Given the description of an element on the screen output the (x, y) to click on. 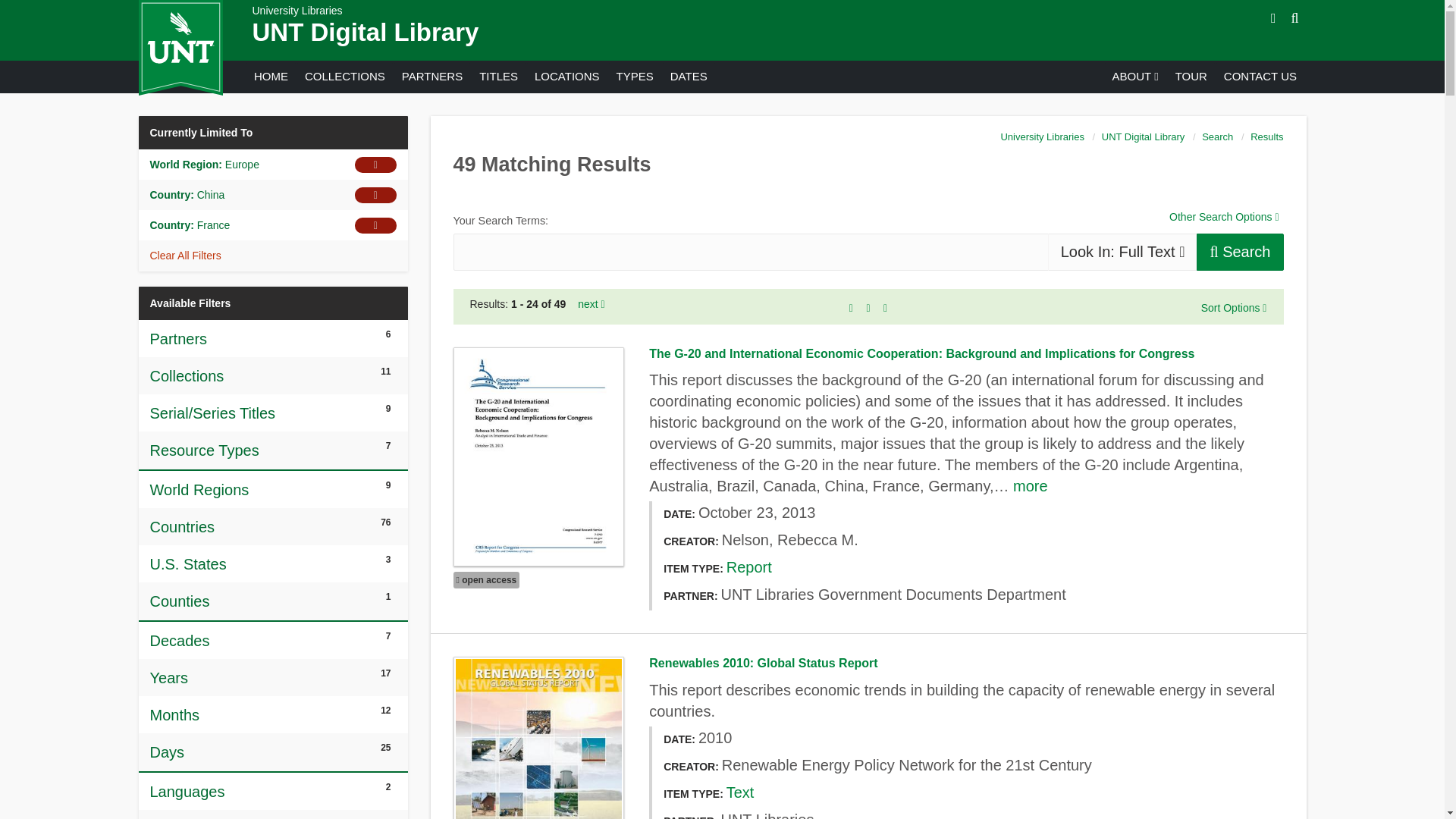
HOME (270, 76)
University Libraries (296, 10)
UNT Digital Library (365, 31)
